Given the description of an element on the screen output the (x, y) to click on. 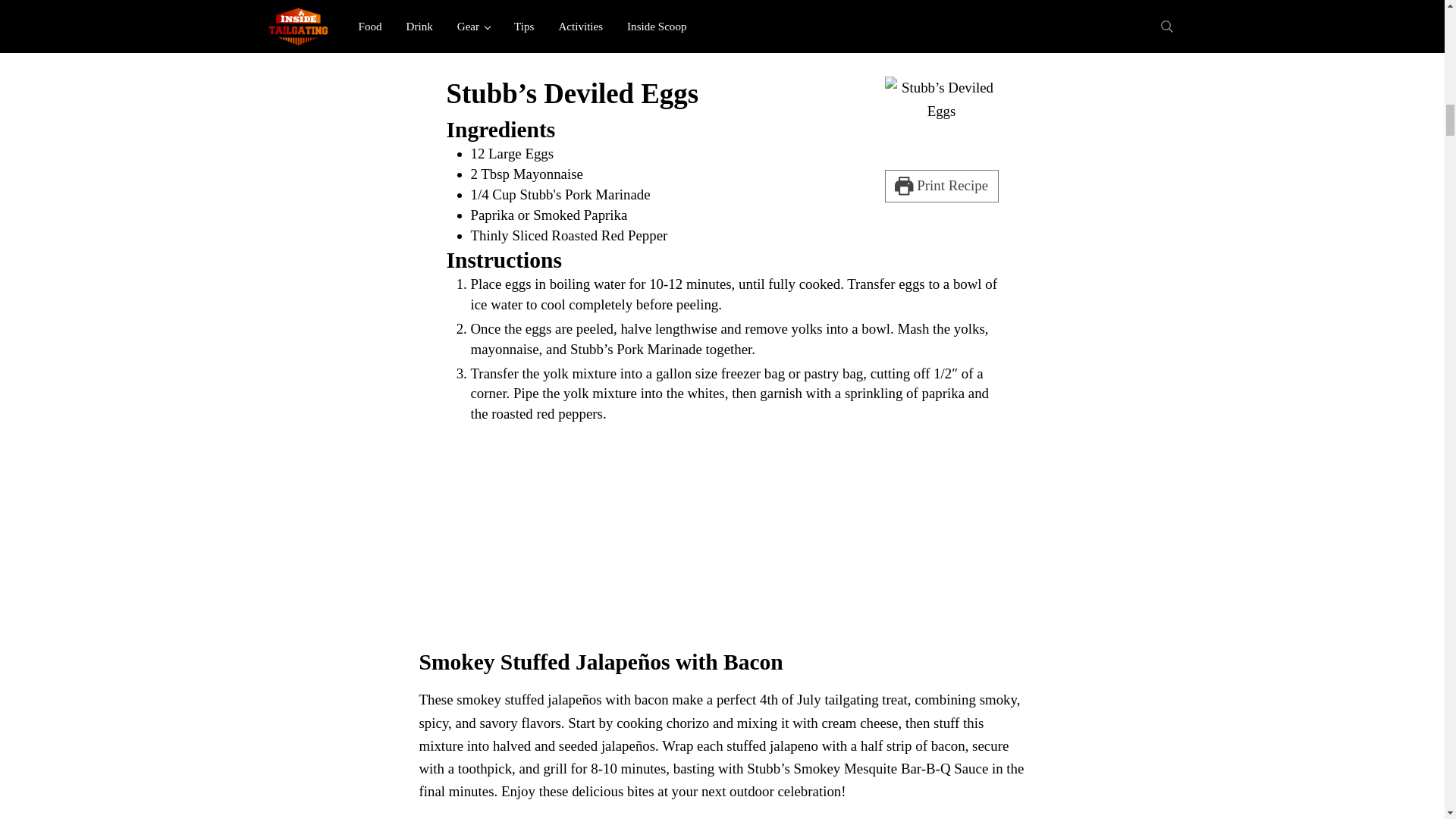
Print Recipe (940, 185)
